Given the description of an element on the screen output the (x, y) to click on. 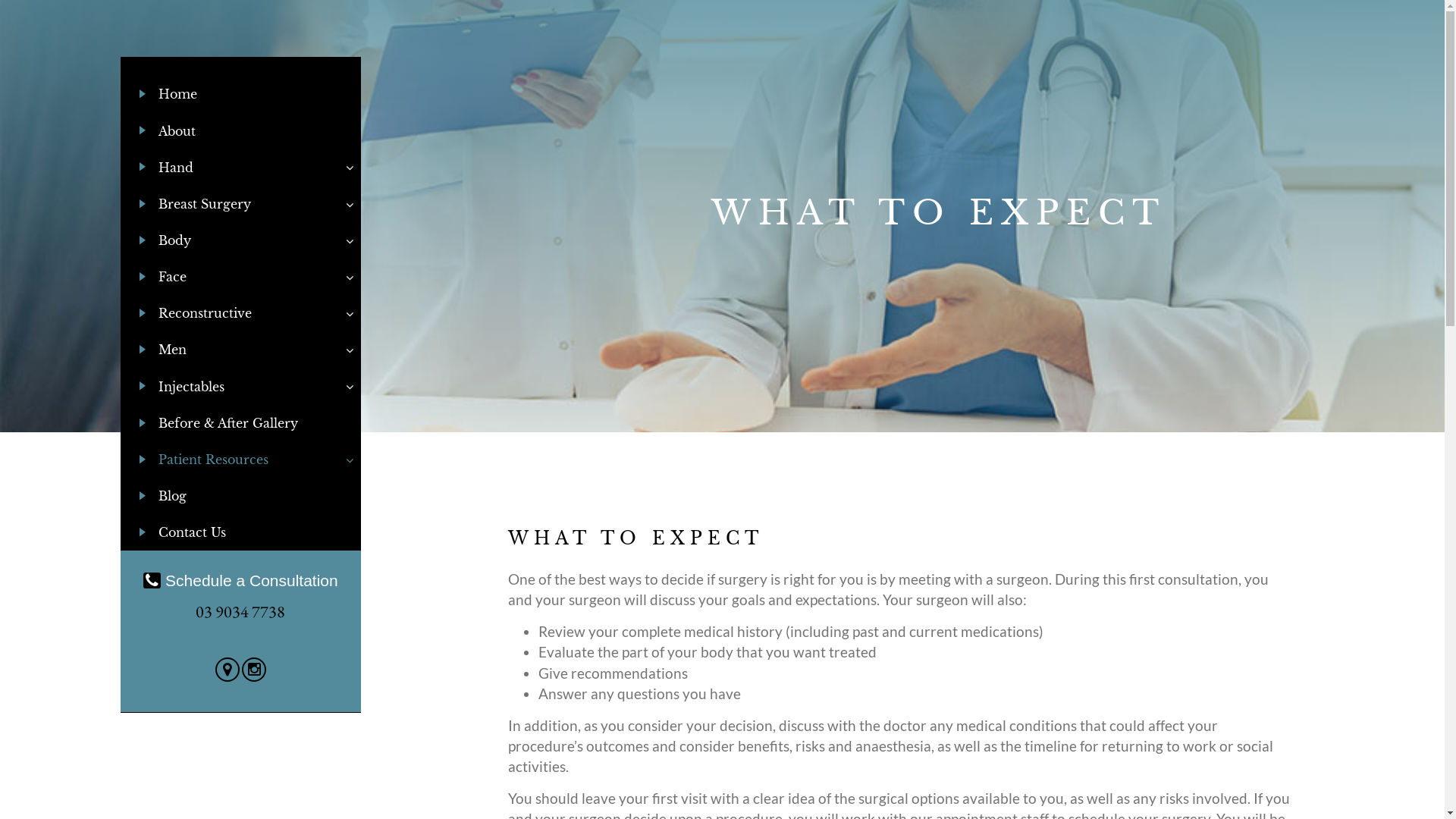
03 9034 7738 Element type: text (240, 611)
Home Element type: text (240, 93)
Before & After Gallery Element type: text (240, 422)
google-plus Element type: hover (228, 671)
About Element type: text (240, 130)
Blog Element type: text (240, 495)
Schedule a Consultation Element type: text (240, 580)
instagram Element type: hover (253, 671)
Contact Us Element type: text (240, 532)
